Given the description of an element on the screen output the (x, y) to click on. 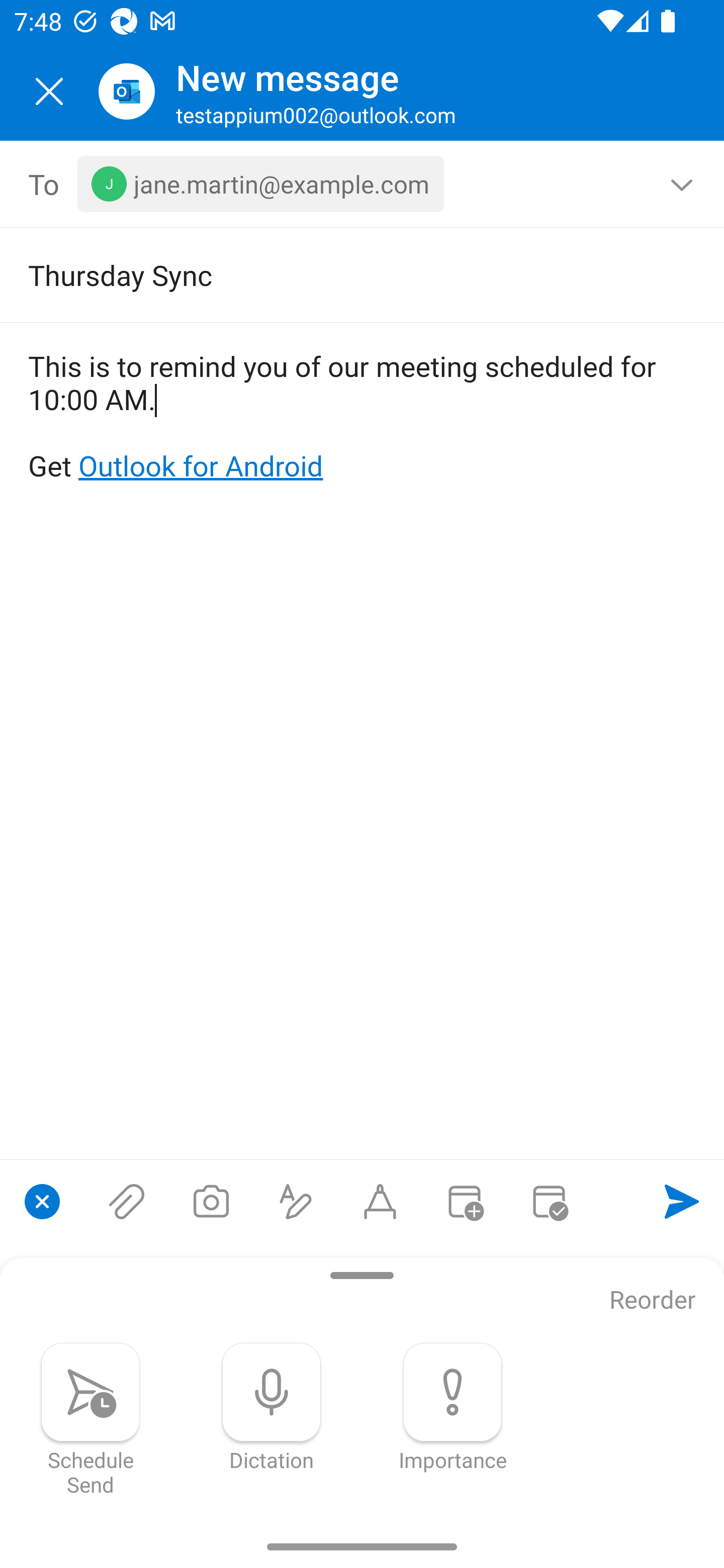
Close (49, 91)
To, 1 recipient <jane.martin@example.com> (362, 184)
Thursday Sync (333, 274)
Close compose options (42, 1200)
Attach files (126, 1200)
Take a photo (210, 1200)
Show formatting options (295, 1200)
Start Ink compose (380, 1200)
Convert to event (464, 1200)
Send availability (548, 1200)
Send (681, 1200)
Reorder (652, 1300)
Schedule Send (90, 1419)
Dictation (271, 1406)
Importance (452, 1406)
